Given the description of an element on the screen output the (x, y) to click on. 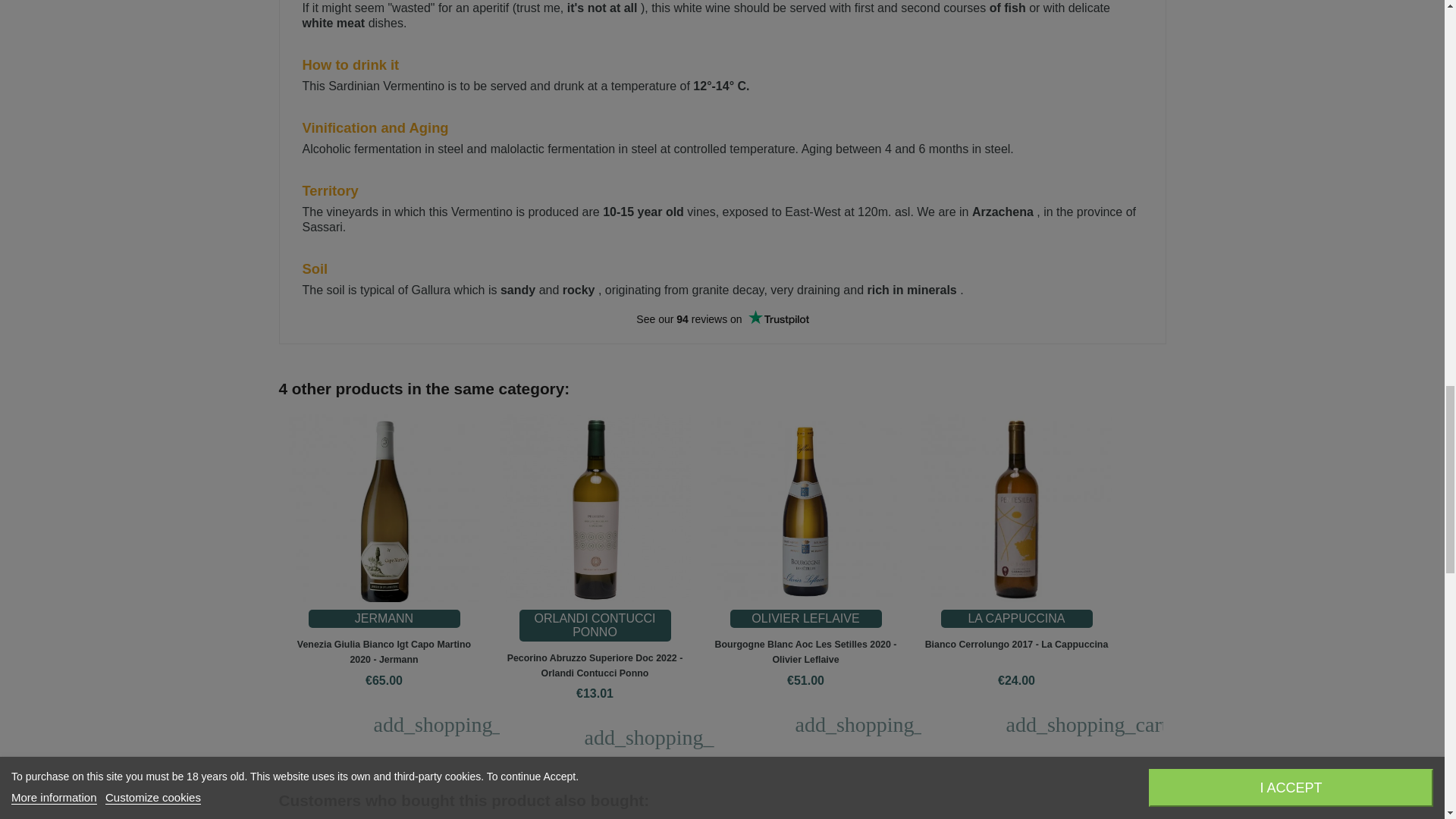
Customer reviews powered by Trustpilot (721, 319)
